Given the description of an element on the screen output the (x, y) to click on. 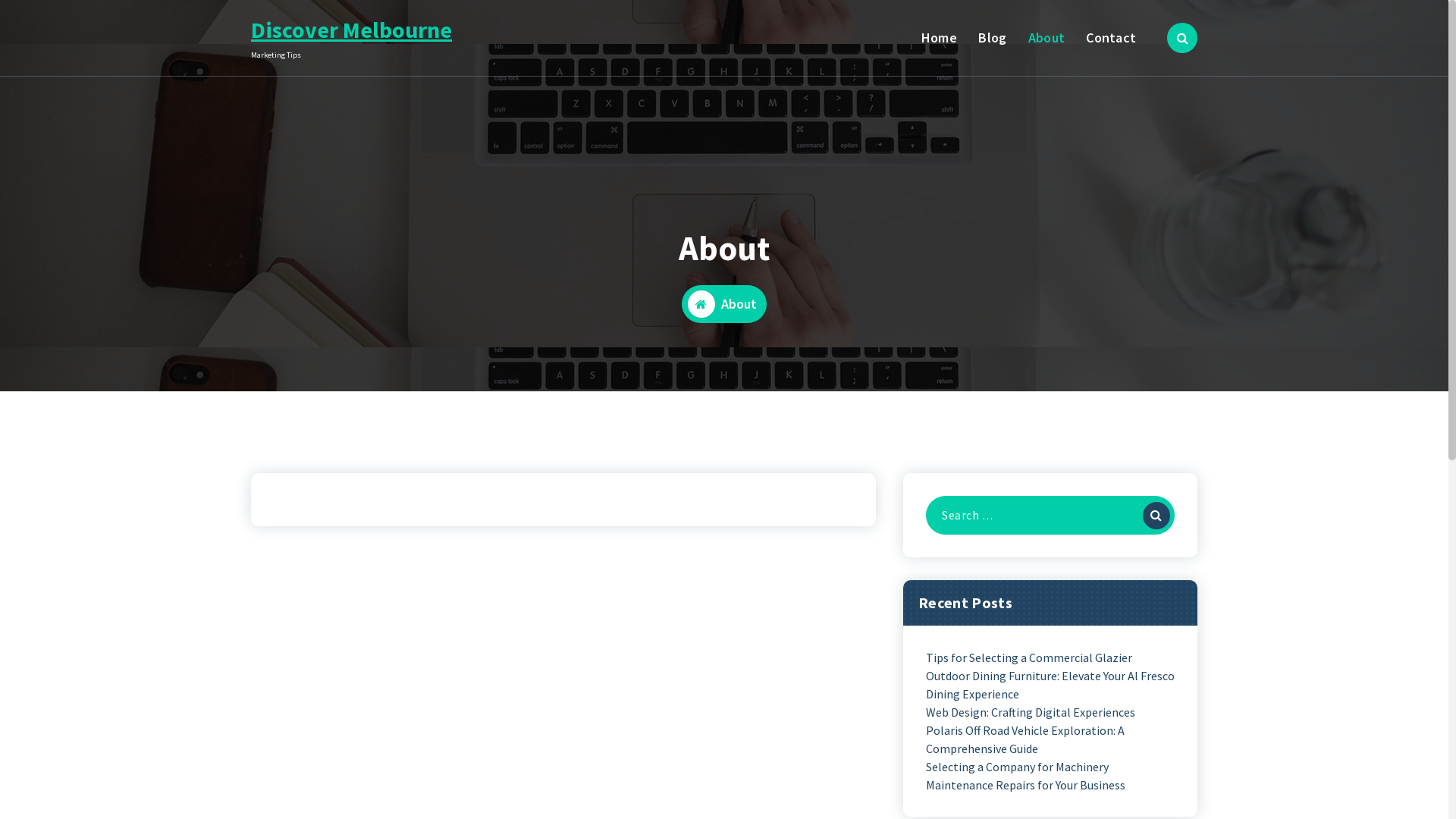
Discover Melbourne Element type: text (351, 29)
Web Design: Crafting Digital Experiences Element type: text (1030, 711)
Home Element type: text (938, 37)
Polaris Off Road Vehicle Exploration: A Comprehensive Guide Element type: text (1049, 739)
About Element type: text (1046, 37)
Search Element type: text (1156, 515)
Blog Element type: text (992, 37)
Contact Element type: text (1111, 37)
CoziPress WordPress Theme Element type: text (1131, 776)
Tips for Selecting a Commercial Glazier Element type: text (1028, 657)
